Given the description of an element on the screen output the (x, y) to click on. 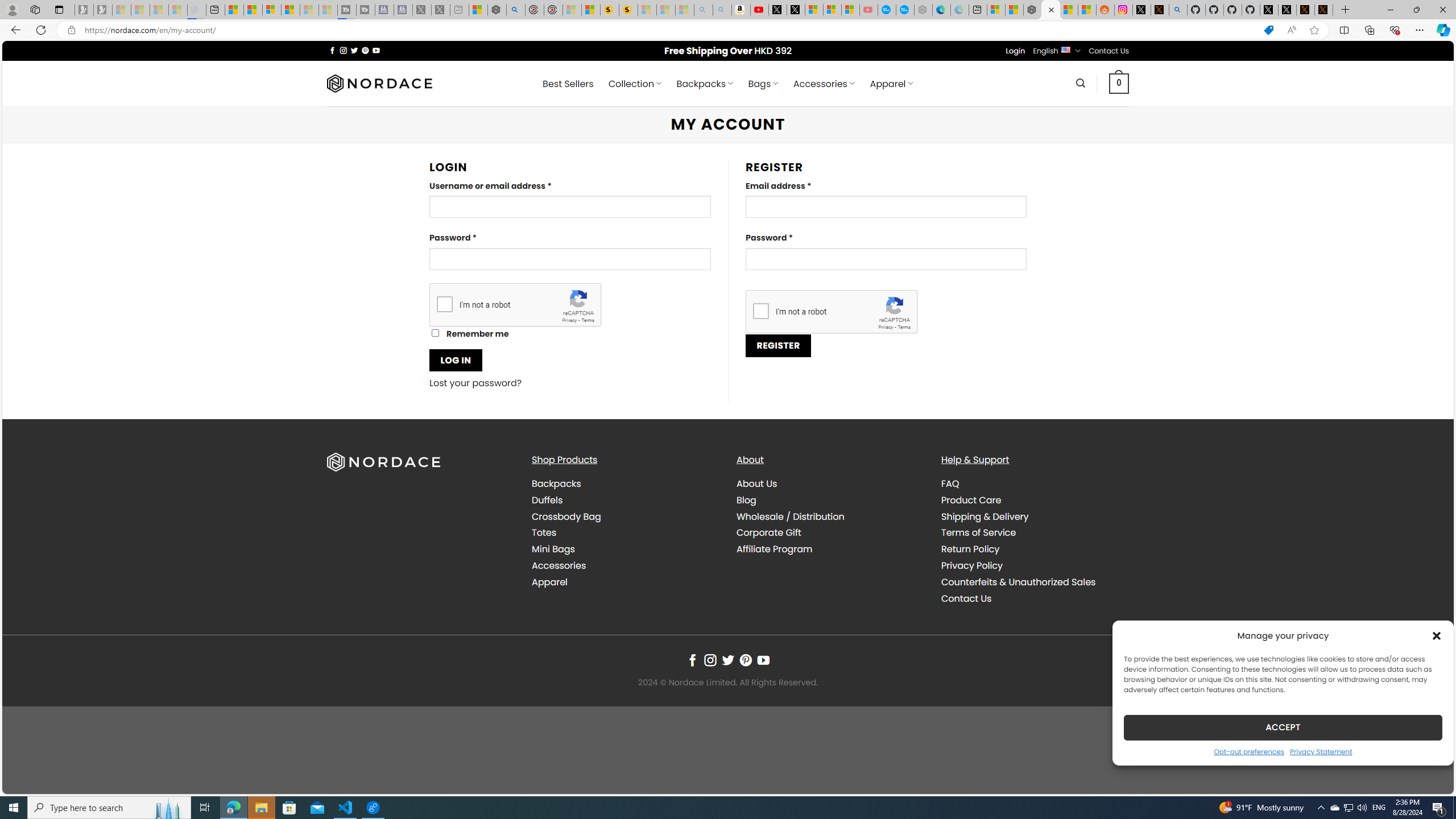
Nordace - Nordace has arrived Hong Kong - Sleeping (923, 9)
FAQ (949, 483)
amazon - Search - Sleeping (702, 9)
The most popular Google 'how to' searches (904, 9)
FAQ (1034, 483)
Shanghai, China Weather trends | Microsoft Weather (1086, 9)
Product Care (1034, 499)
LOG IN (455, 359)
 0  (1118, 83)
Gloom - YouTube - Sleeping (868, 9)
